Given the description of an element on the screen output the (x, y) to click on. 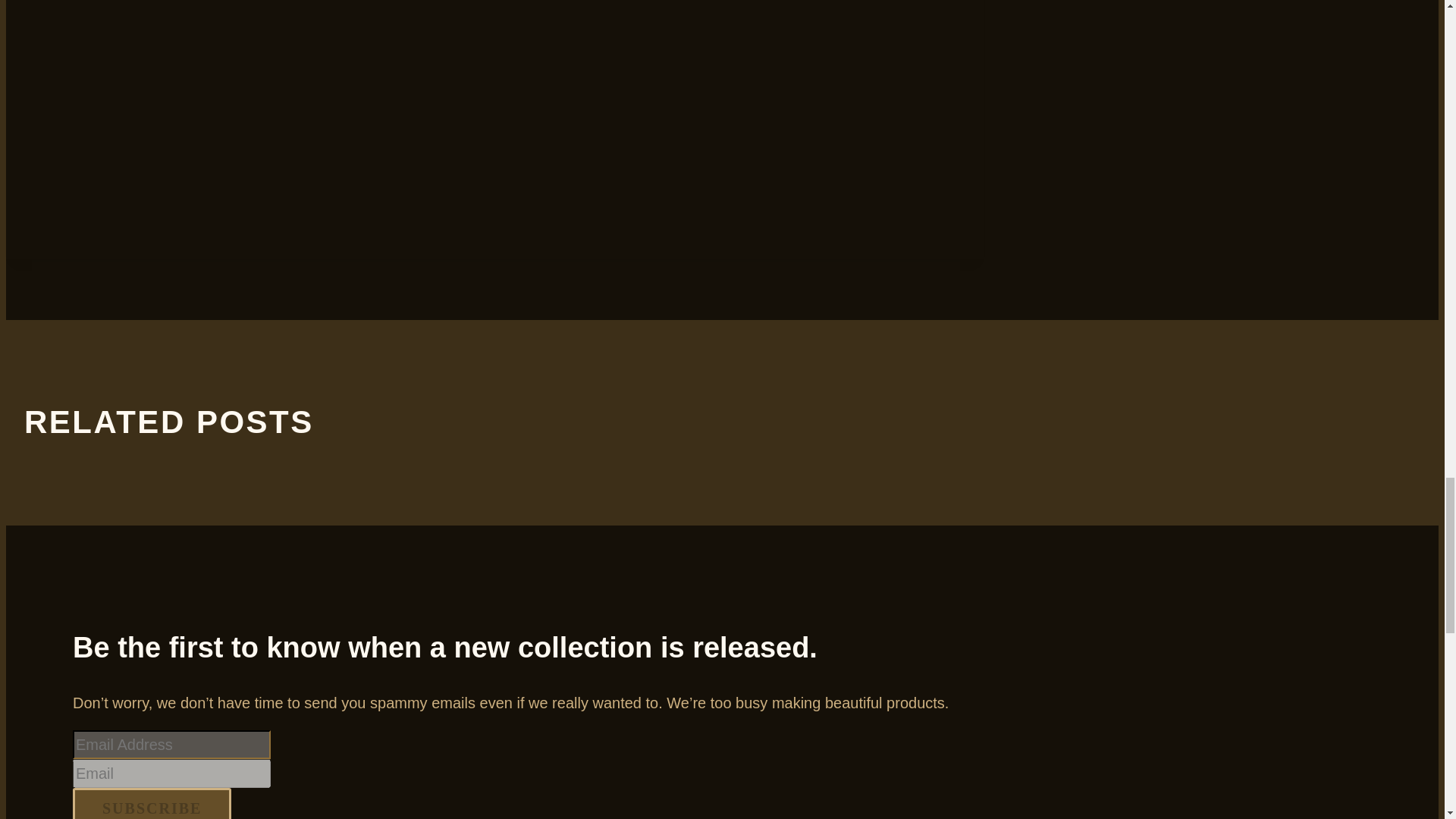
SUBSCRIBE (151, 803)
